Given the description of an element on the screen output the (x, y) to click on. 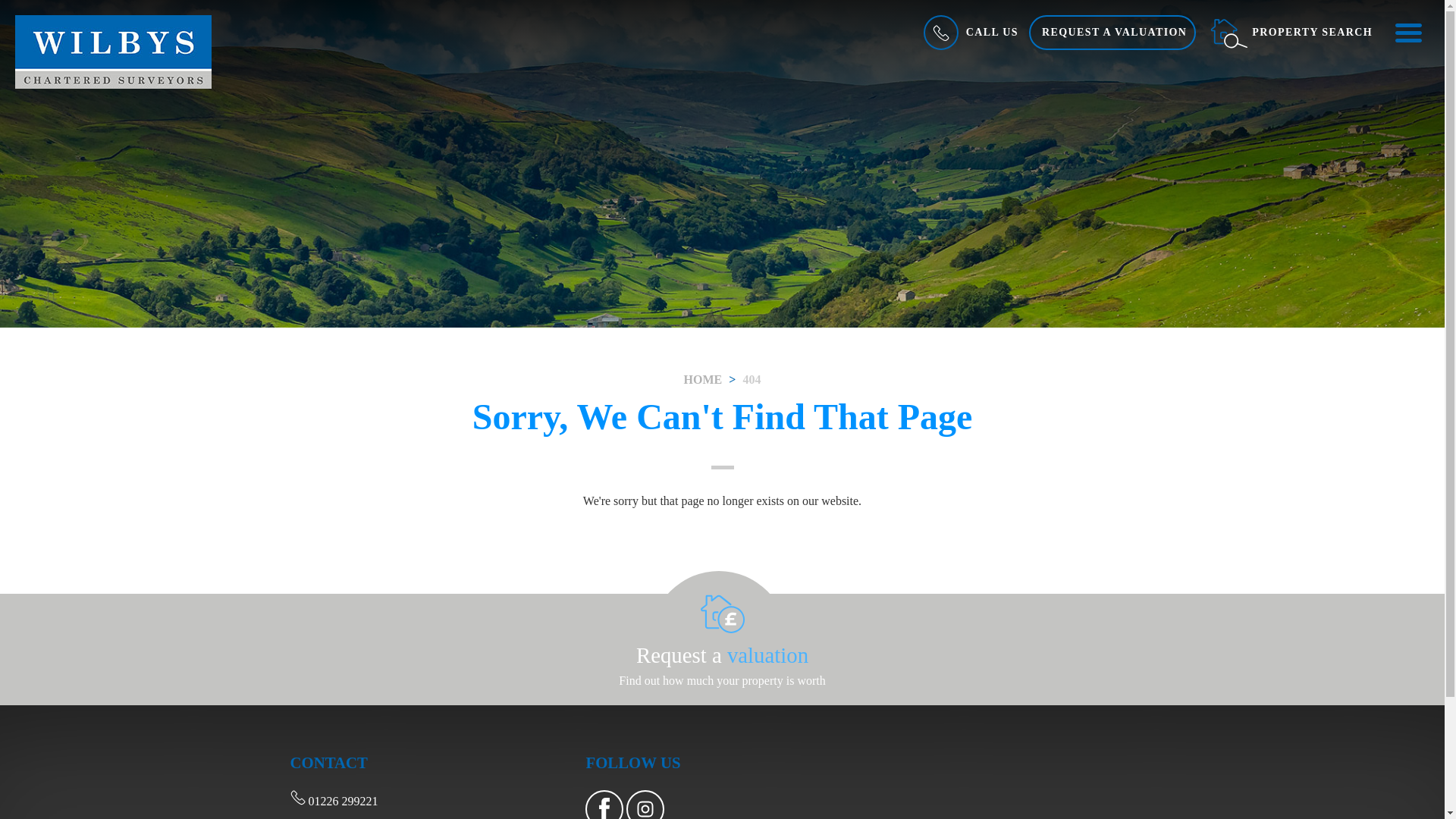
404 (751, 379)
CALL US (969, 31)
HOME (703, 379)
PROPERTY SEARCH (1291, 31)
01226 299221 (333, 800)
MENU (1406, 31)
REQUEST A VALUATION (1112, 32)
